Given the description of an element on the screen output the (x, y) to click on. 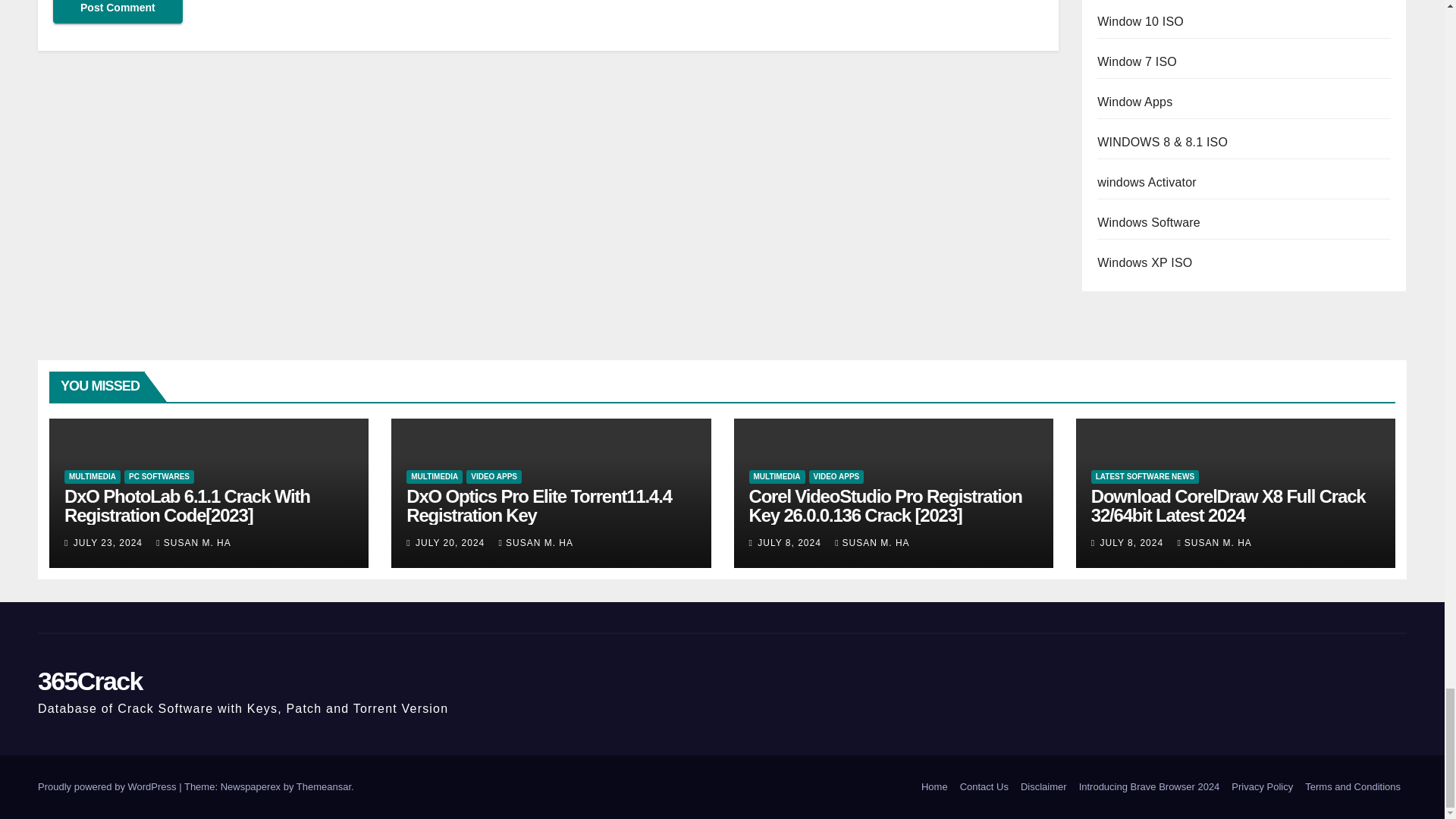
Post Comment (117, 11)
